Given the description of an element on the screen output the (x, y) to click on. 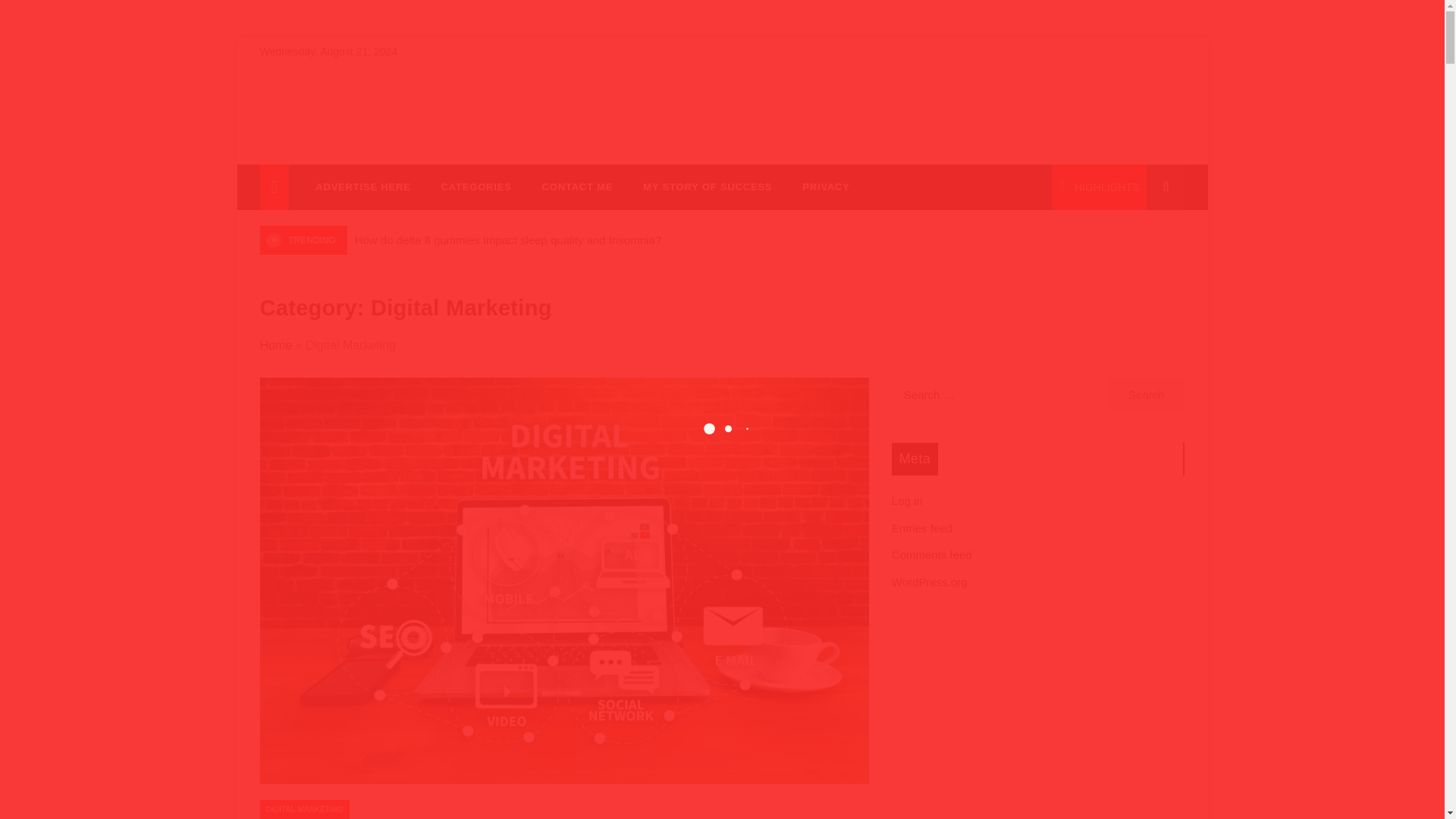
How do delta 8 gummies Impact sleep quality and Insomnia? (507, 240)
ADVERTISE HERE (362, 186)
CONTACT ME (577, 186)
CATEGORIES (476, 186)
Search (1146, 394)
PRIVACY (817, 186)
MY STORY OF SUCCESS (707, 186)
A Light Up Ahead (345, 146)
HIGHLIGHTS (1099, 186)
